Given the description of an element on the screen output the (x, y) to click on. 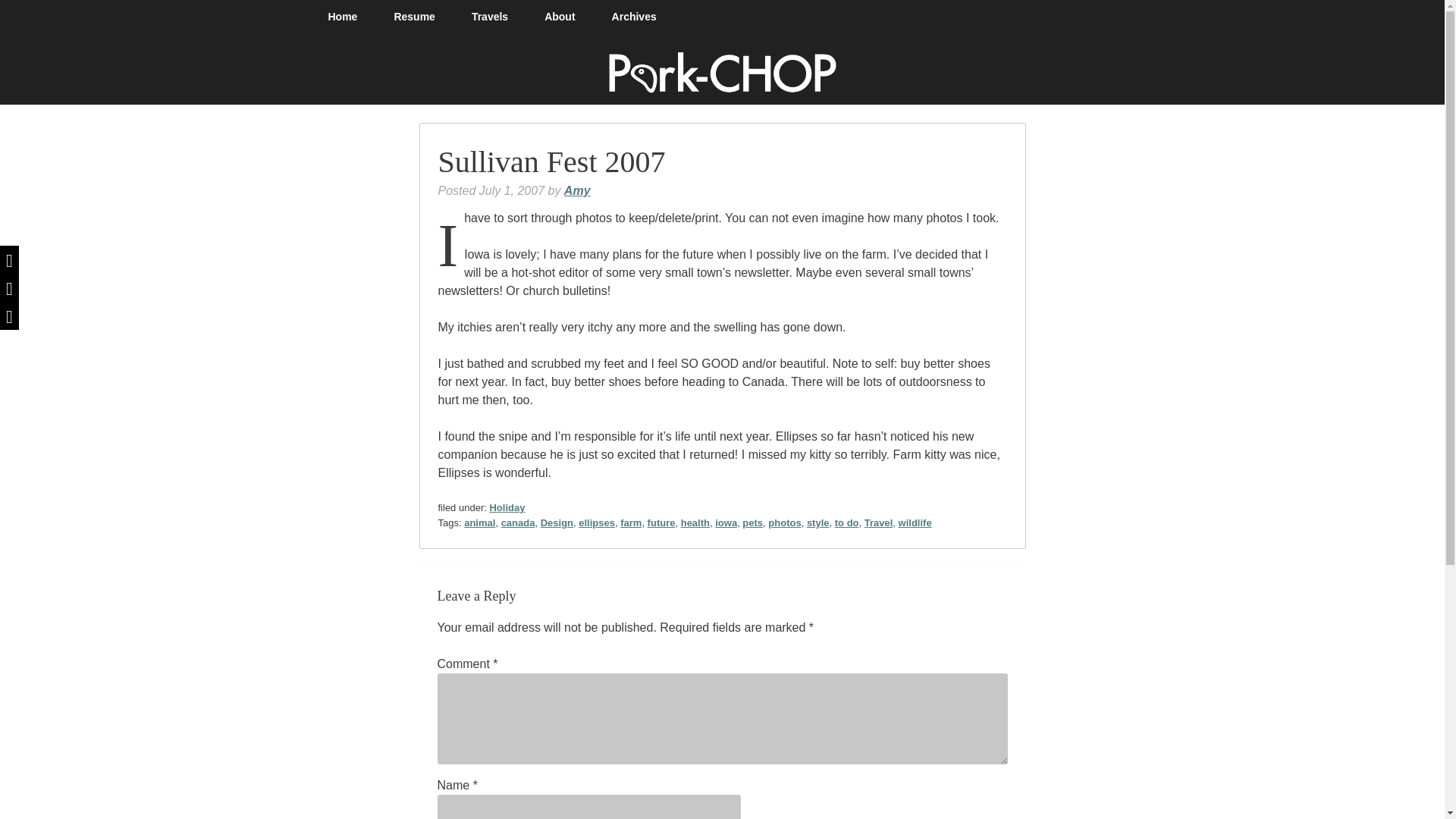
canada (517, 522)
Archives (634, 17)
About (558, 17)
animal (479, 522)
Resume (413, 17)
Email to a Friend (9, 316)
photos (784, 522)
Home (351, 17)
to do (846, 522)
style (817, 522)
Travels (488, 17)
future (661, 522)
health (695, 522)
wildlife (914, 522)
Holiday (506, 507)
